Given the description of an element on the screen output the (x, y) to click on. 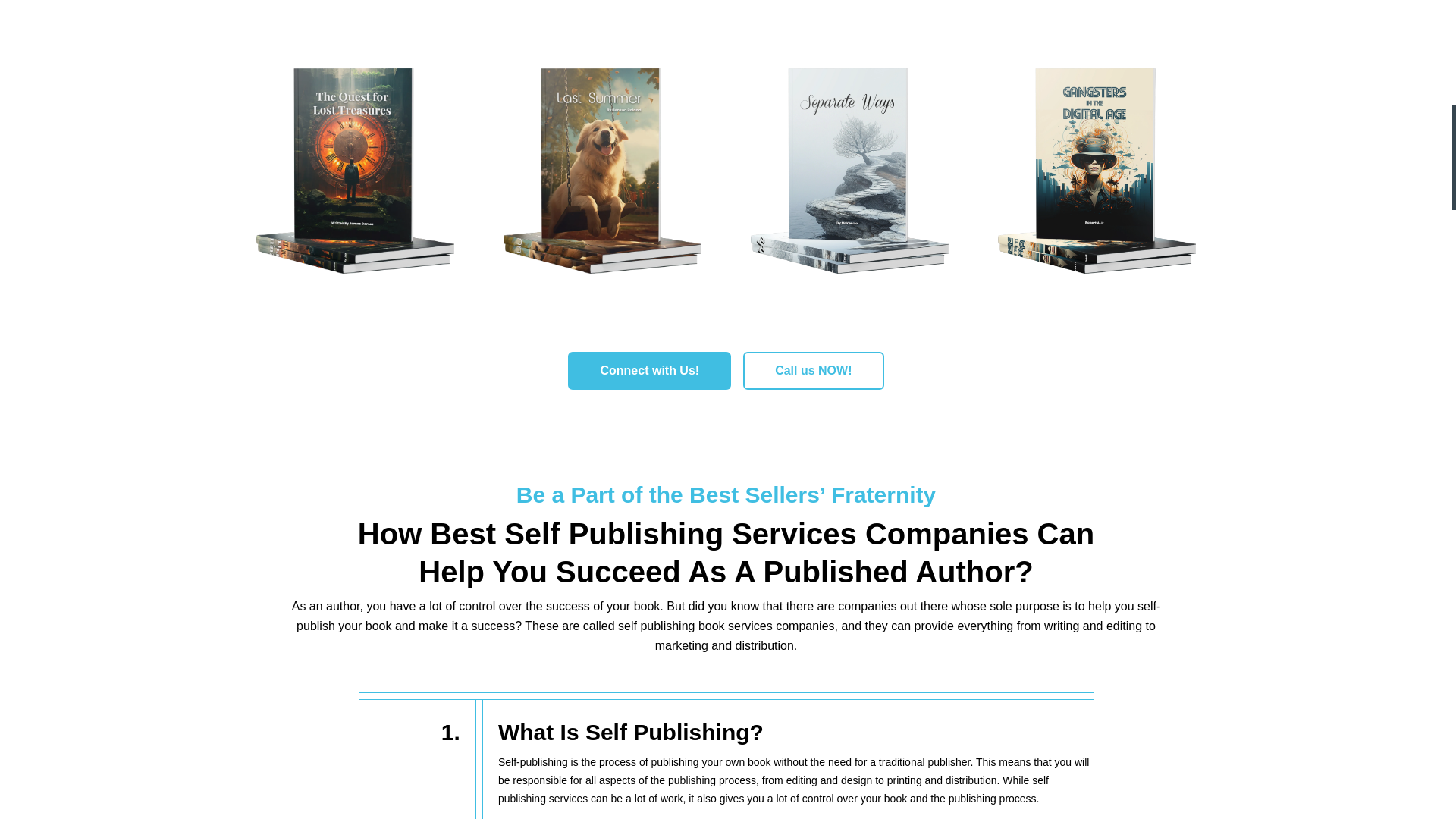
Call us NOW! (812, 370)
Connect with Us! (648, 370)
